Given the description of an element on the screen output the (x, y) to click on. 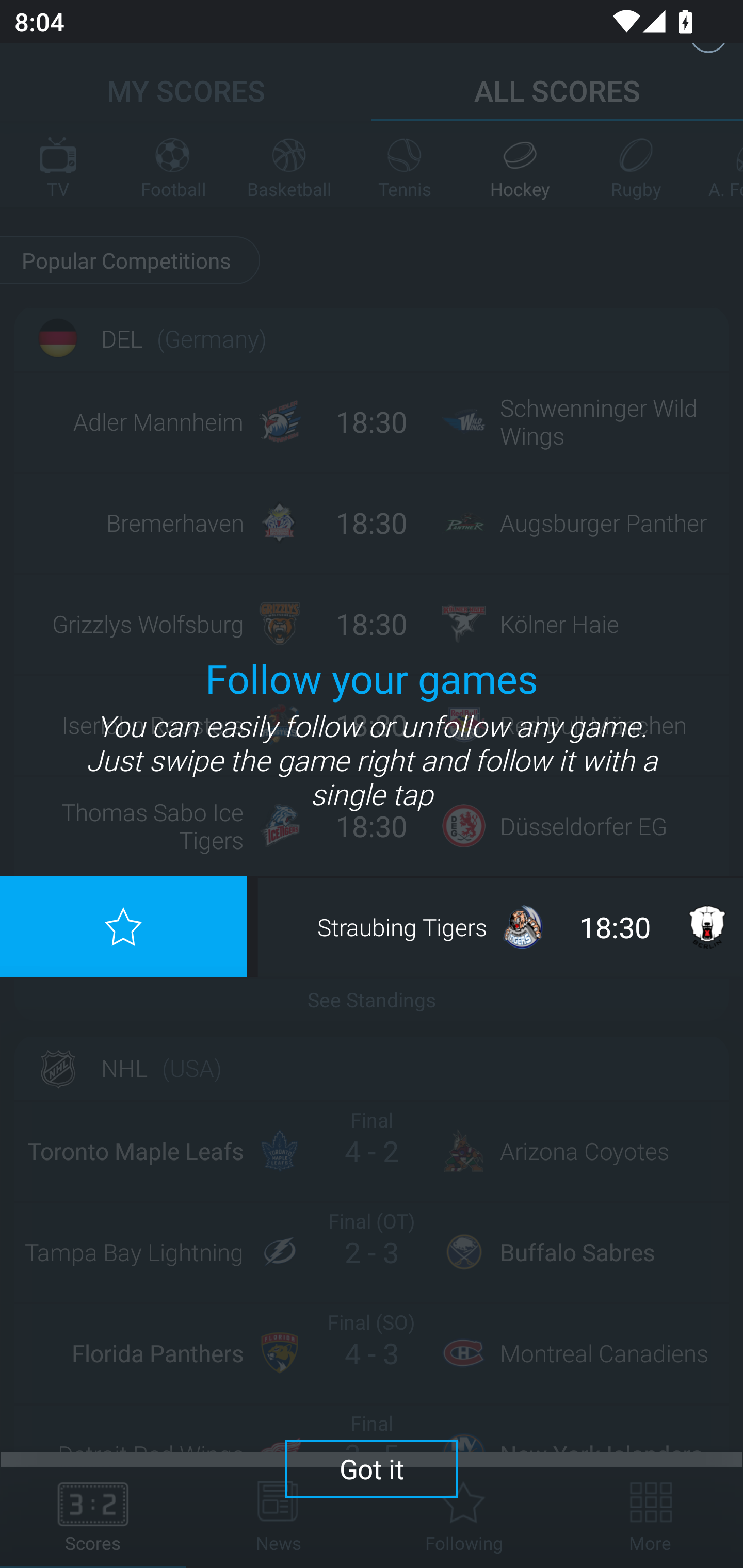
Straubing Tigers 18:30 Eisbären Berlin (502, 926)
Got it (371, 1468)
